Given the description of an element on the screen output the (x, y) to click on. 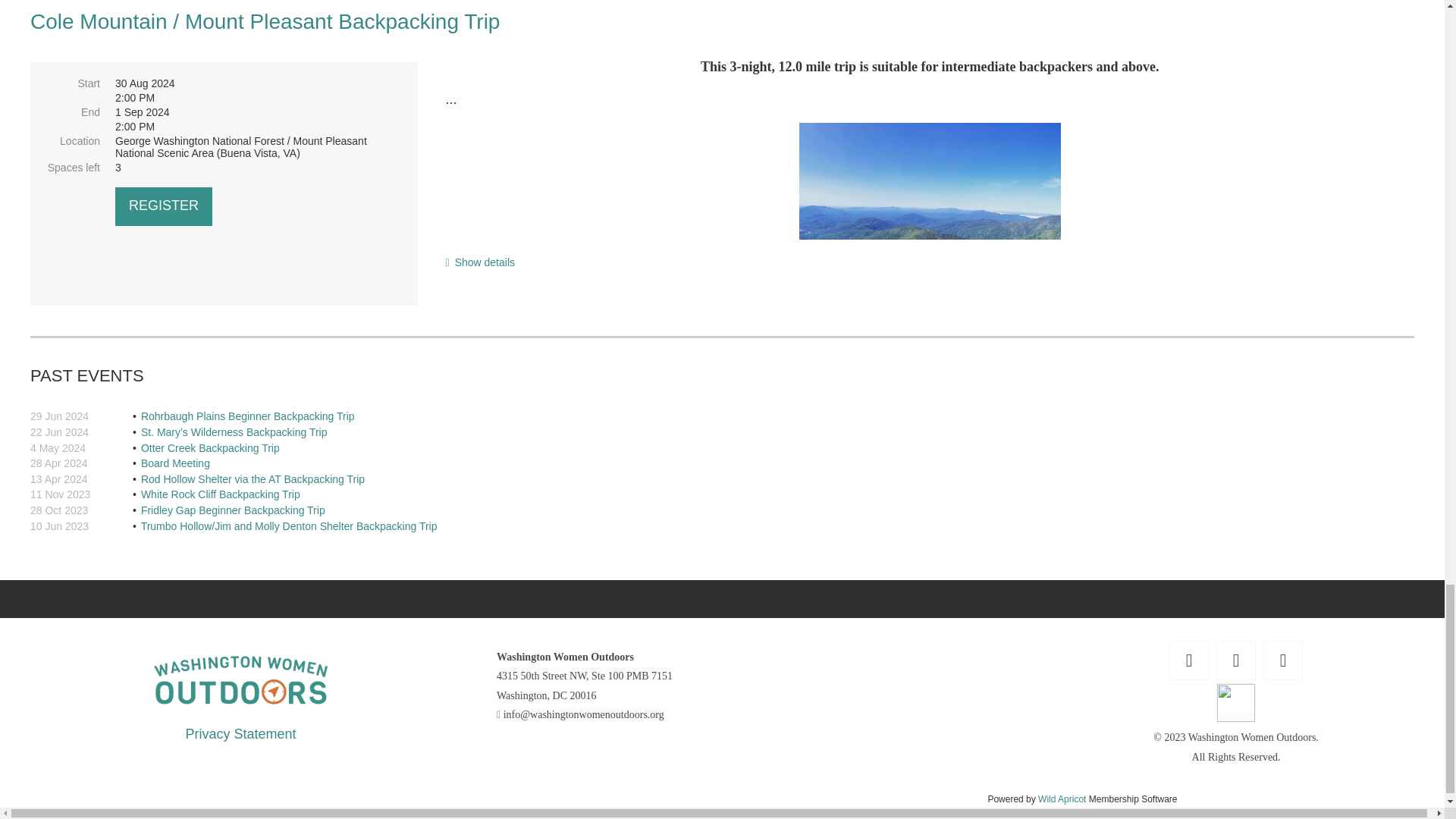
Register (163, 206)
